Given the description of an element on the screen output the (x, y) to click on. 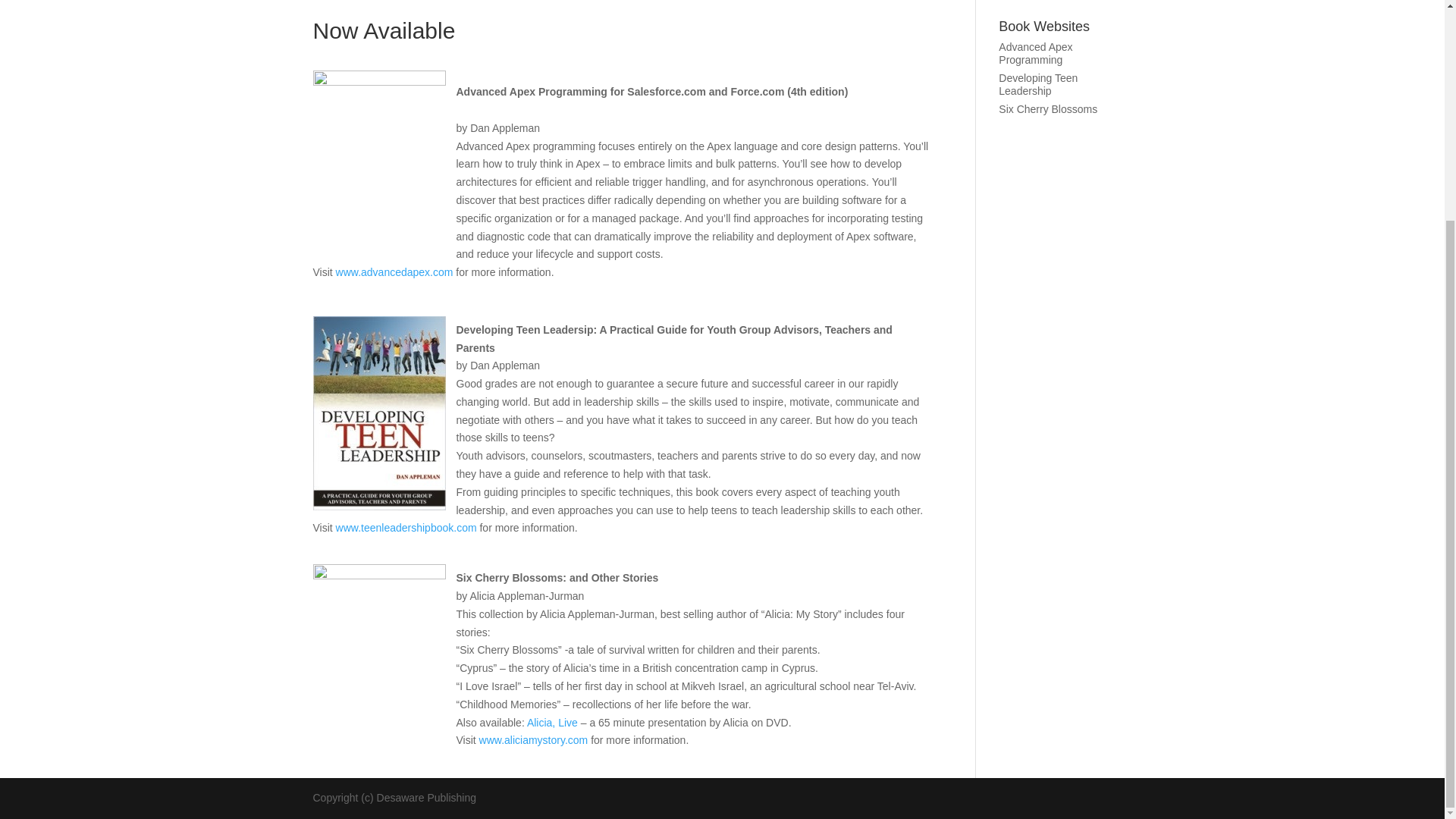
Six Cherry Blossoms (1047, 109)
www.teenleadershipbook.com (406, 527)
www.aliciamystory.com (533, 739)
Developing Teen Leadership (1037, 84)
Advanced Apex Programming (1034, 53)
Alicia, Live (552, 722)
www.advancedapex.com (394, 272)
